Given the description of an element on the screen output the (x, y) to click on. 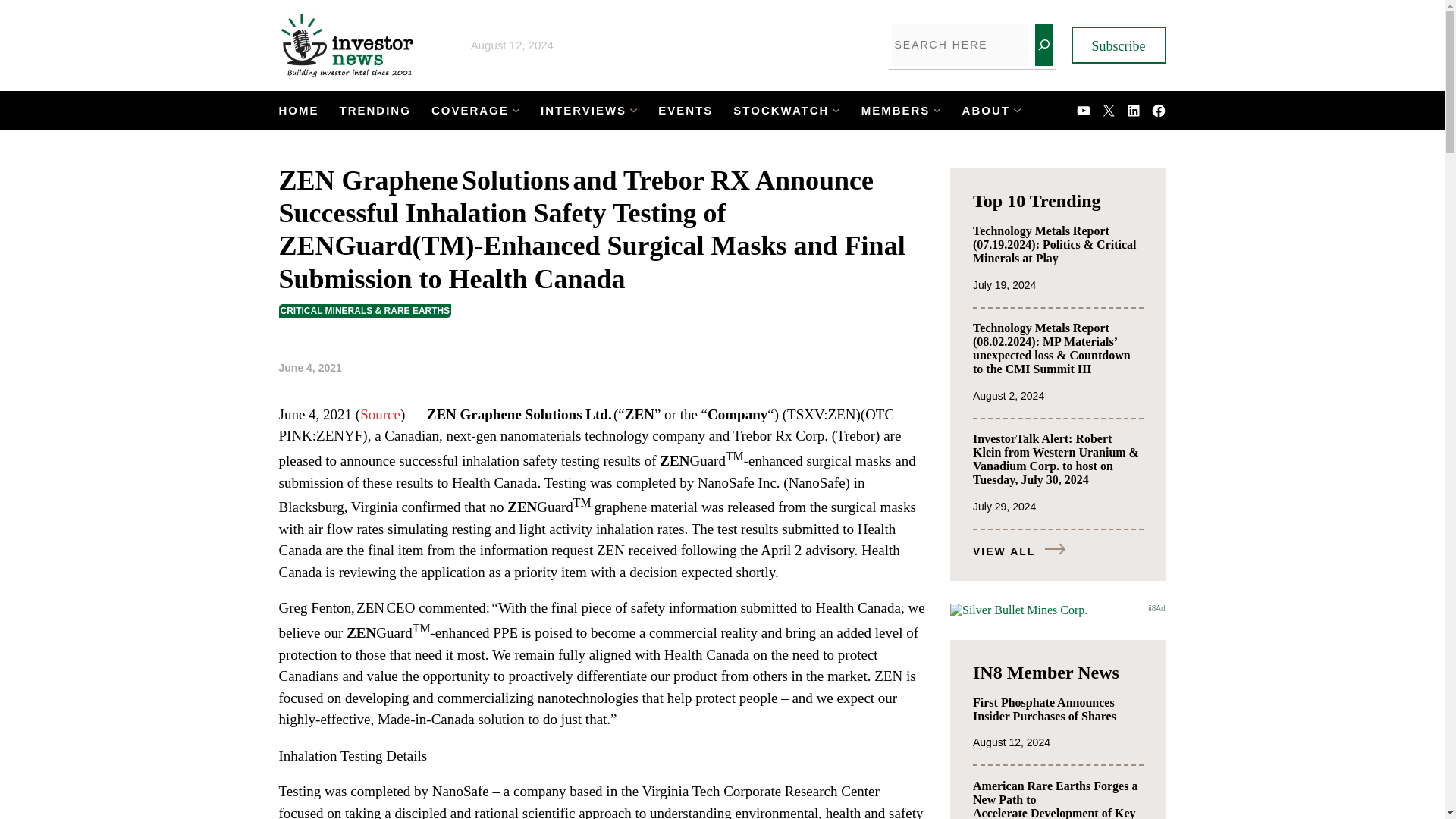
INTERVIEWS (583, 110)
STOCKWATCH (780, 110)
COVERAGE (469, 110)
TRENDING (374, 110)
HOME (298, 110)
MEMBERS (895, 110)
EVENTS (685, 110)
Subscribe (1118, 44)
ABOUT (986, 110)
